Given the description of an element on the screen output the (x, y) to click on. 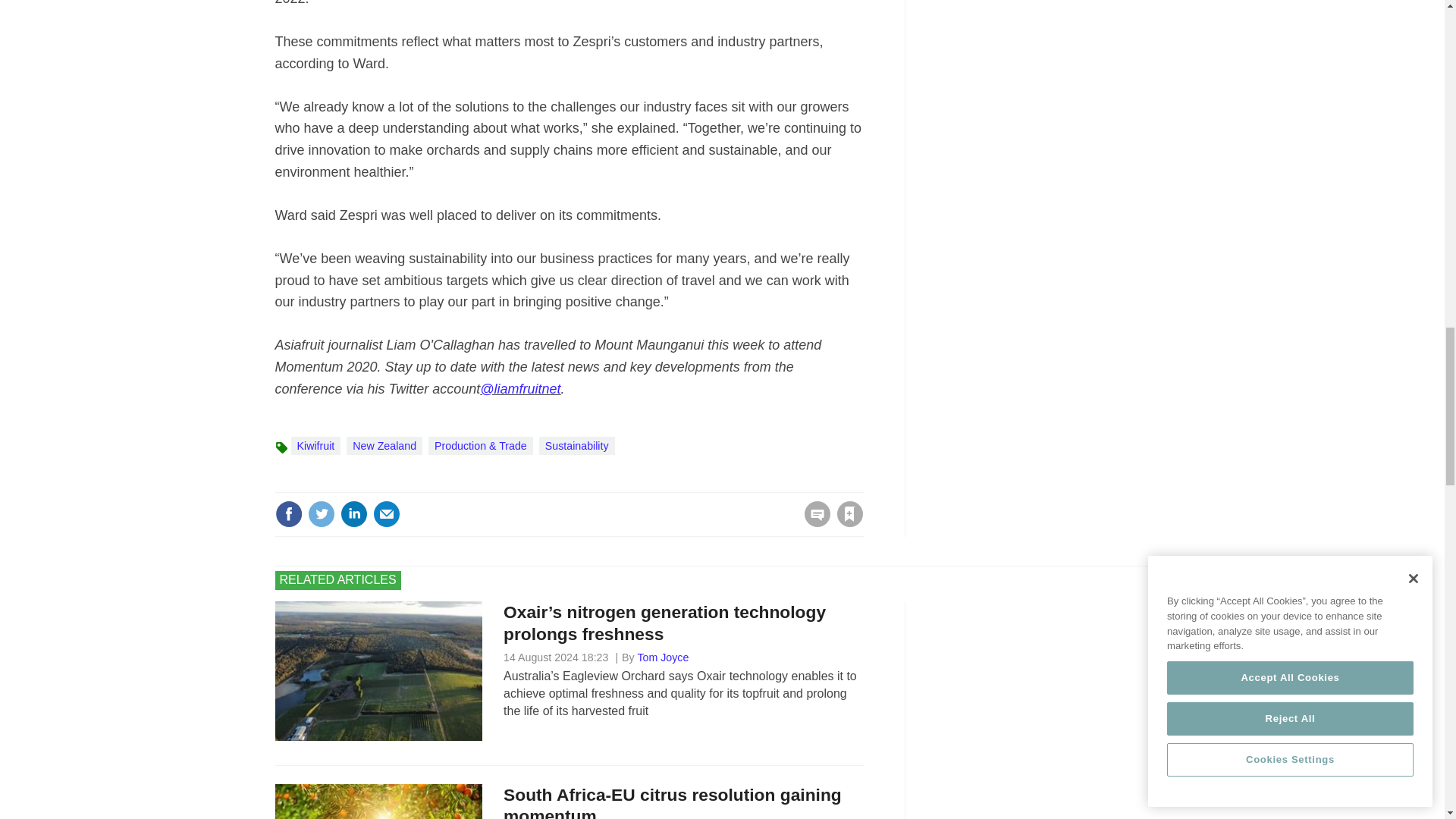
Share this on Facebook (288, 513)
Email this article (386, 513)
Share this on Linked in (352, 513)
No comments (812, 522)
Share this on Twitter (320, 513)
